Given the description of an element on the screen output the (x, y) to click on. 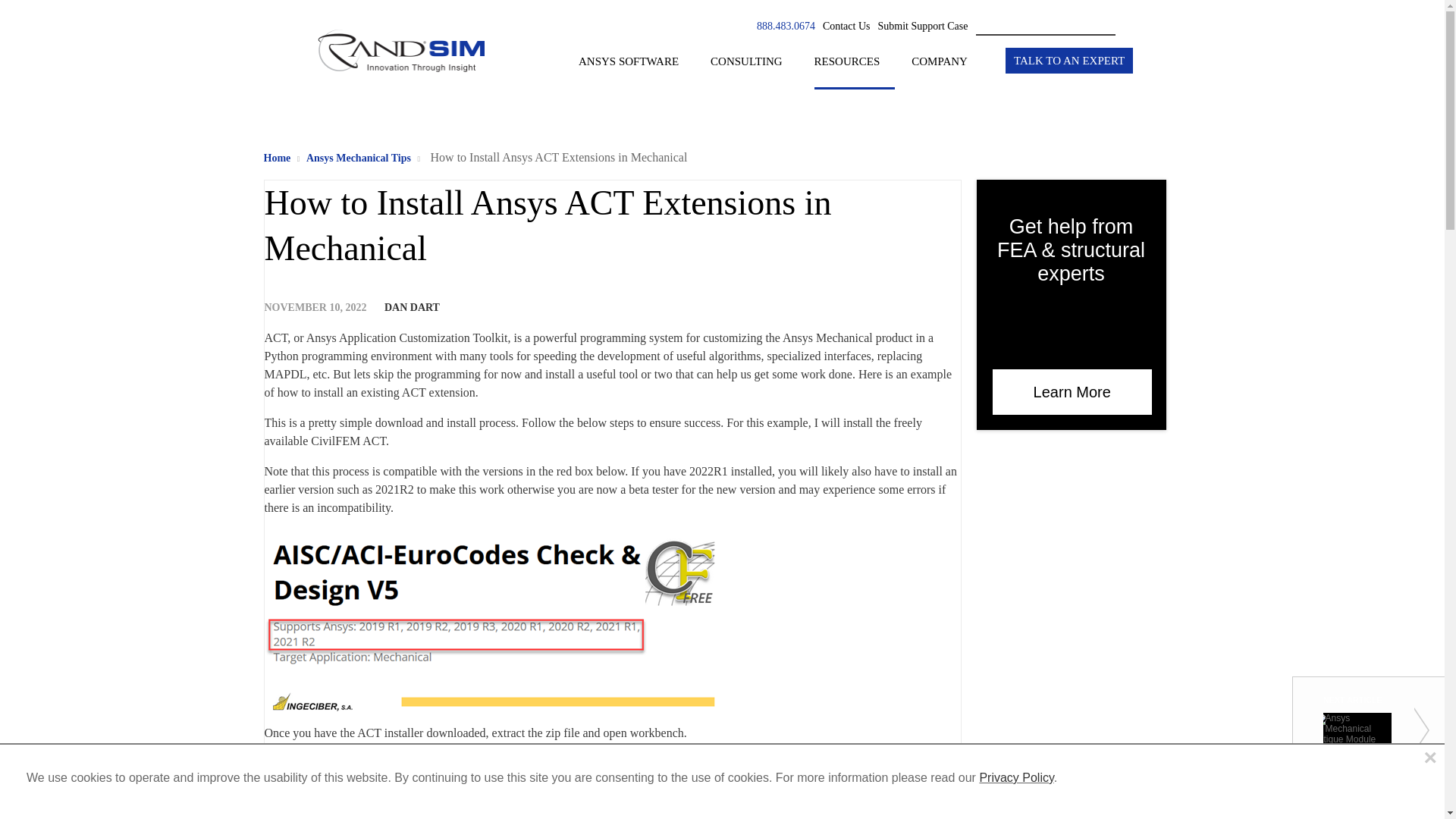
888.483.0674 (786, 26)
Contact Us (846, 26)
Contact Us (846, 25)
Technical Support (922, 25)
Search (1126, 27)
888-483-0674 (786, 25)
Submit Support Case (922, 26)
Rand SIM (400, 82)
Search Site (1053, 25)
CONSULTING (753, 70)
RESOURCES (854, 70)
COMPANY (946, 70)
ANSYS SOFTWARE (636, 70)
